Given the description of an element on the screen output the (x, y) to click on. 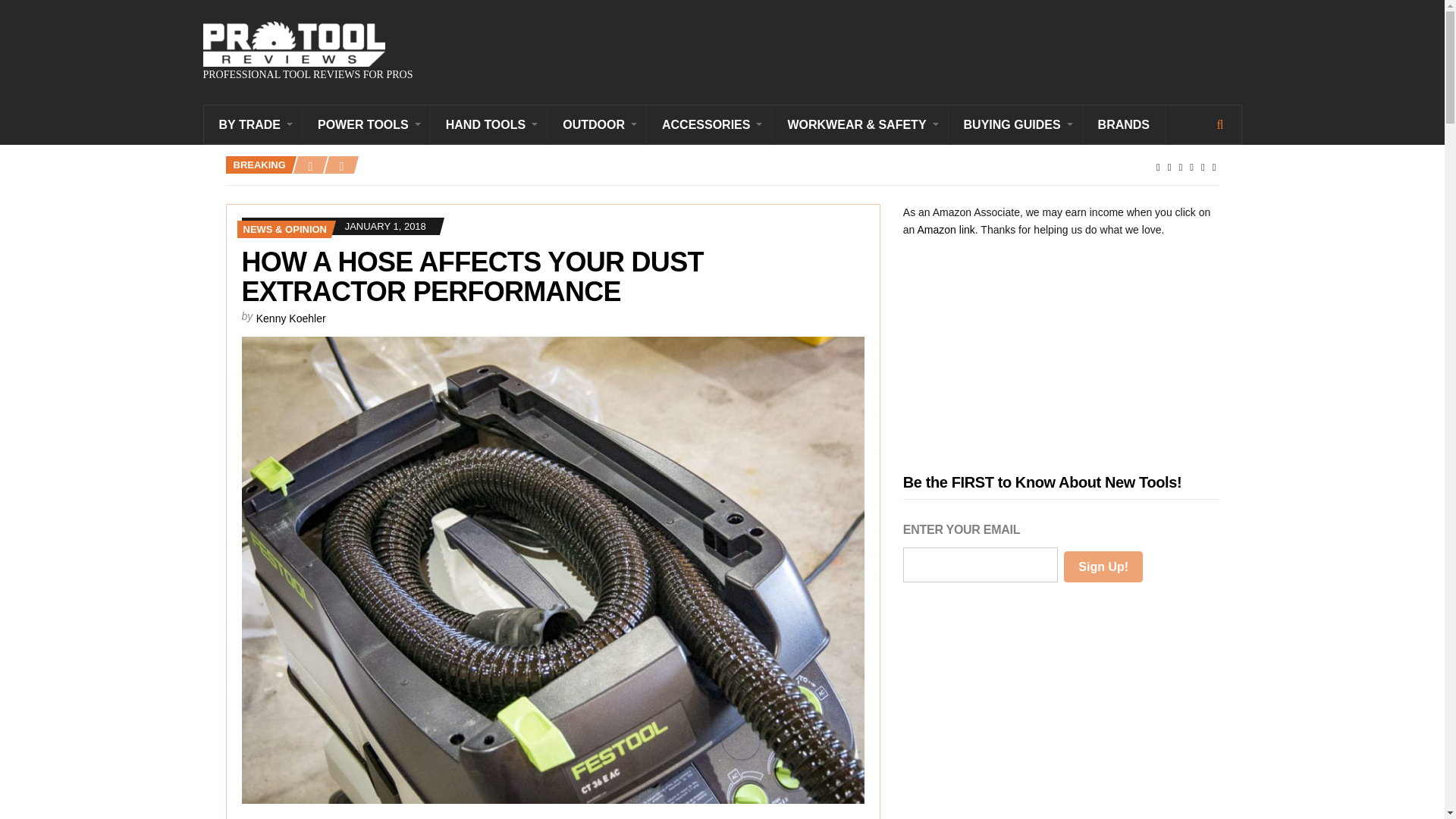
HAND TOOLS (488, 124)
POWER TOOLS (366, 124)
Sign Up! (1103, 566)
BY TRADE (252, 124)
